Given the description of an element on the screen output the (x, y) to click on. 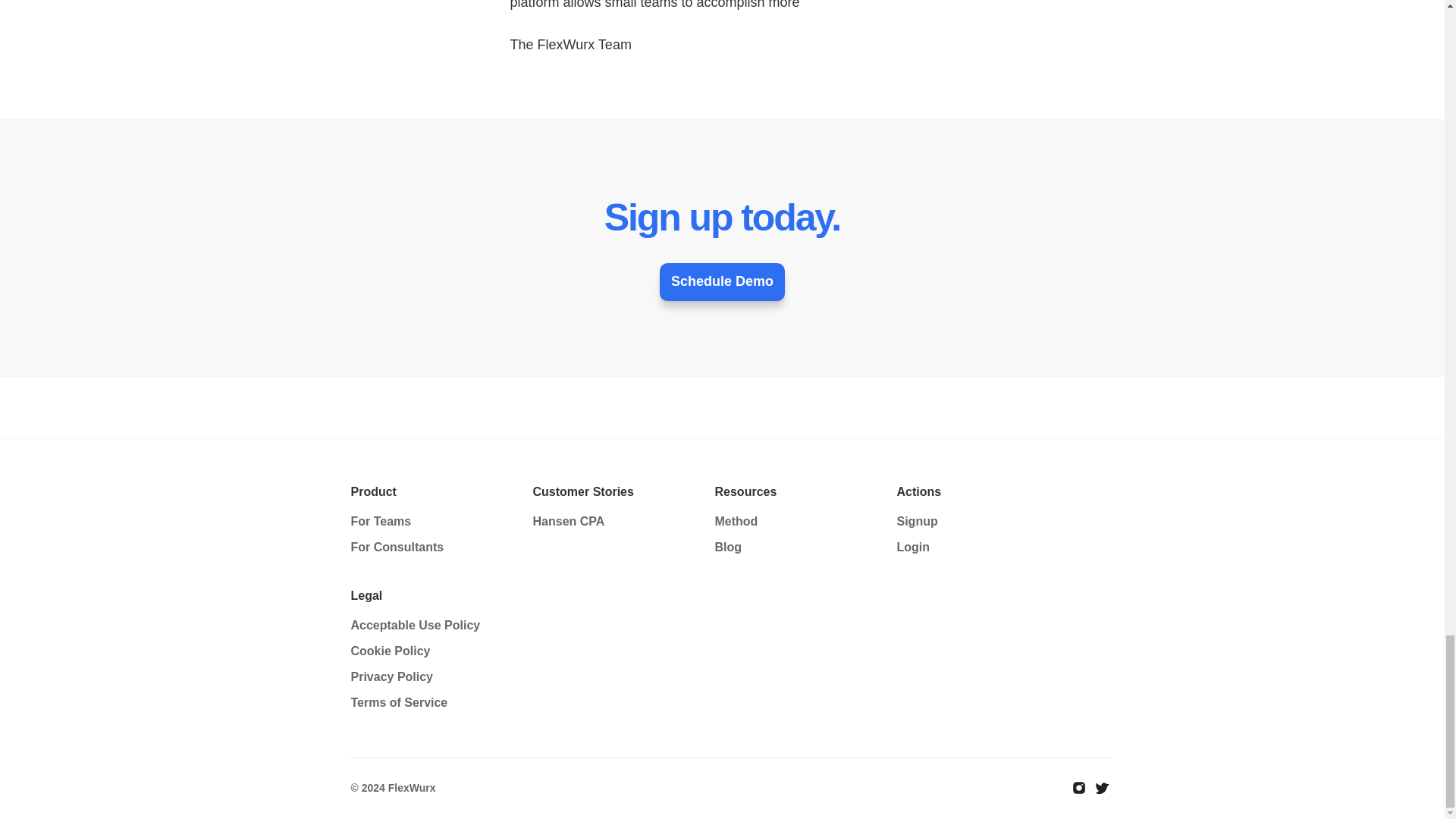
For Teams (380, 521)
Cookie Policy (389, 650)
Login (913, 546)
Privacy Policy (391, 676)
Hansen CPA (568, 521)
Method (735, 521)
Signup (916, 521)
Acceptable Use Policy (415, 625)
Terms of Service (398, 702)
Blog (727, 546)
